Given the description of an element on the screen output the (x, y) to click on. 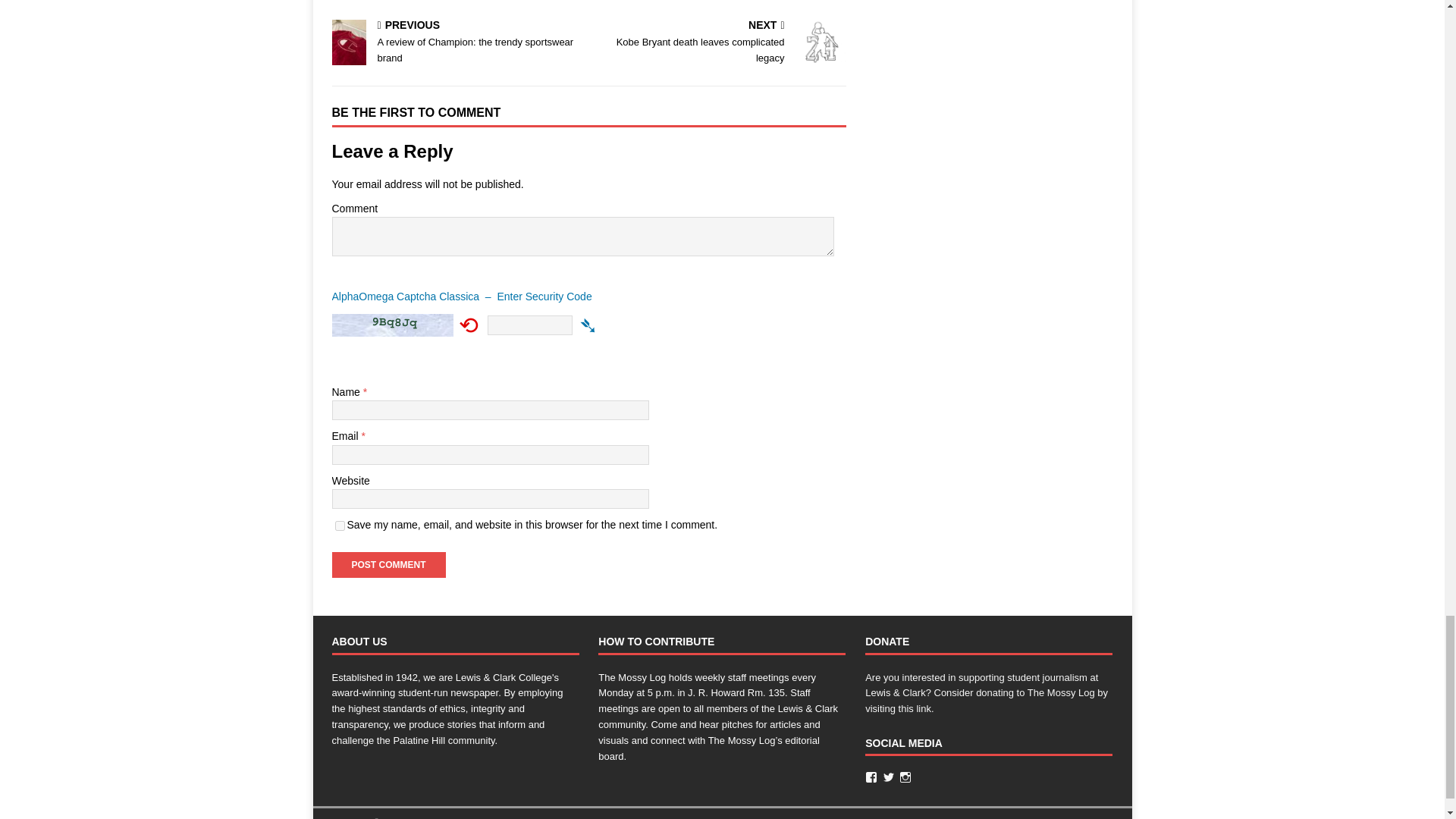
 Checkout the AlphaOmega Captcha Plugin at WordPress.org  (588, 299)
 Reload AlphaOmega Captcha  (468, 324)
yes (339, 525)
Post Comment (388, 565)
 Checkout the AlphaOmega Captcha Plugin at WordPress.org  (588, 324)
